Given the description of an element on the screen output the (x, y) to click on. 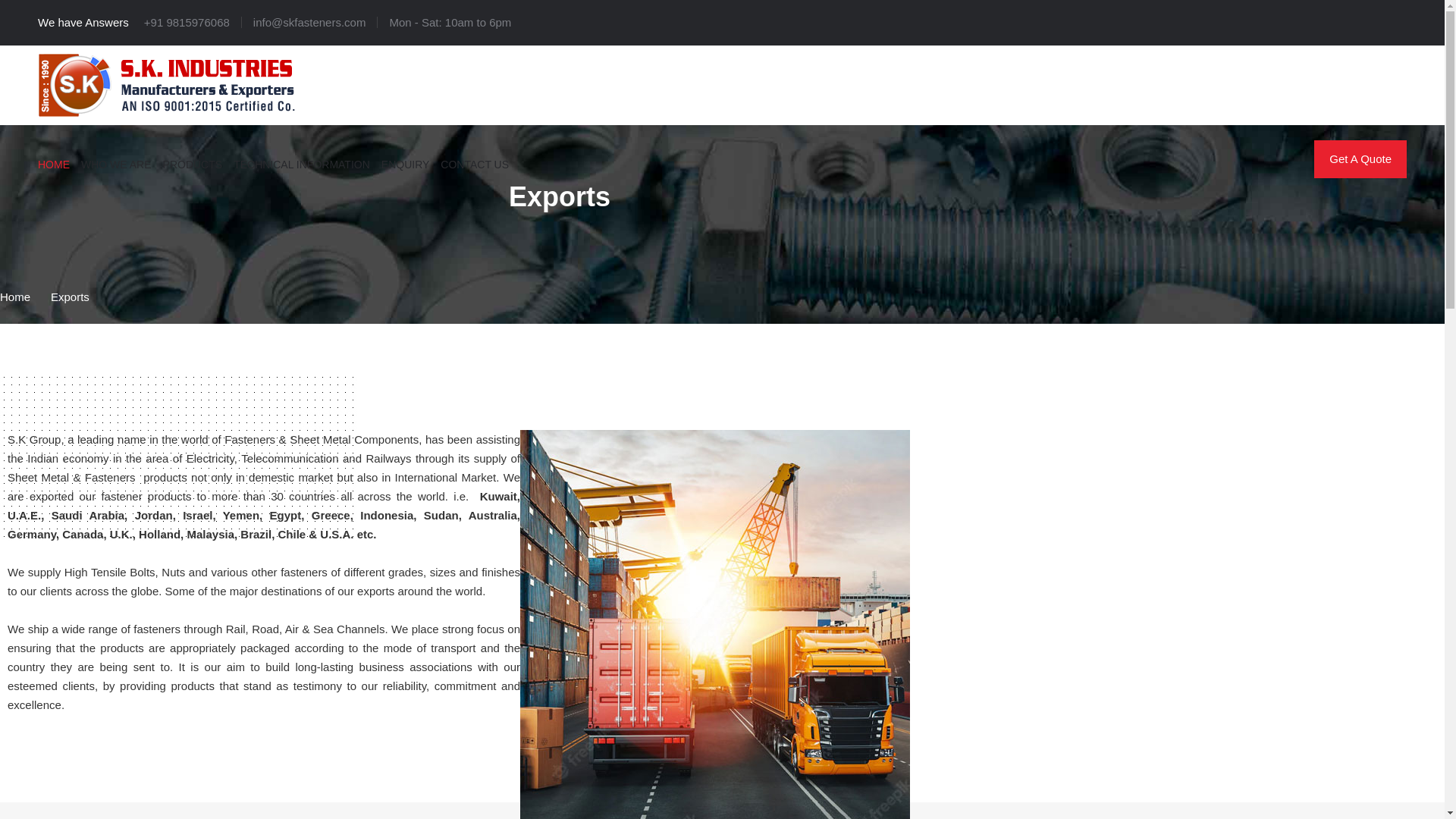
Exports (69, 296)
TECHNICAL INFORMATION (300, 161)
Home (15, 296)
CONTACT US (474, 161)
Get A Quote (1360, 159)
WHO WE ARE (116, 161)
